Given the description of an element on the screen output the (x, y) to click on. 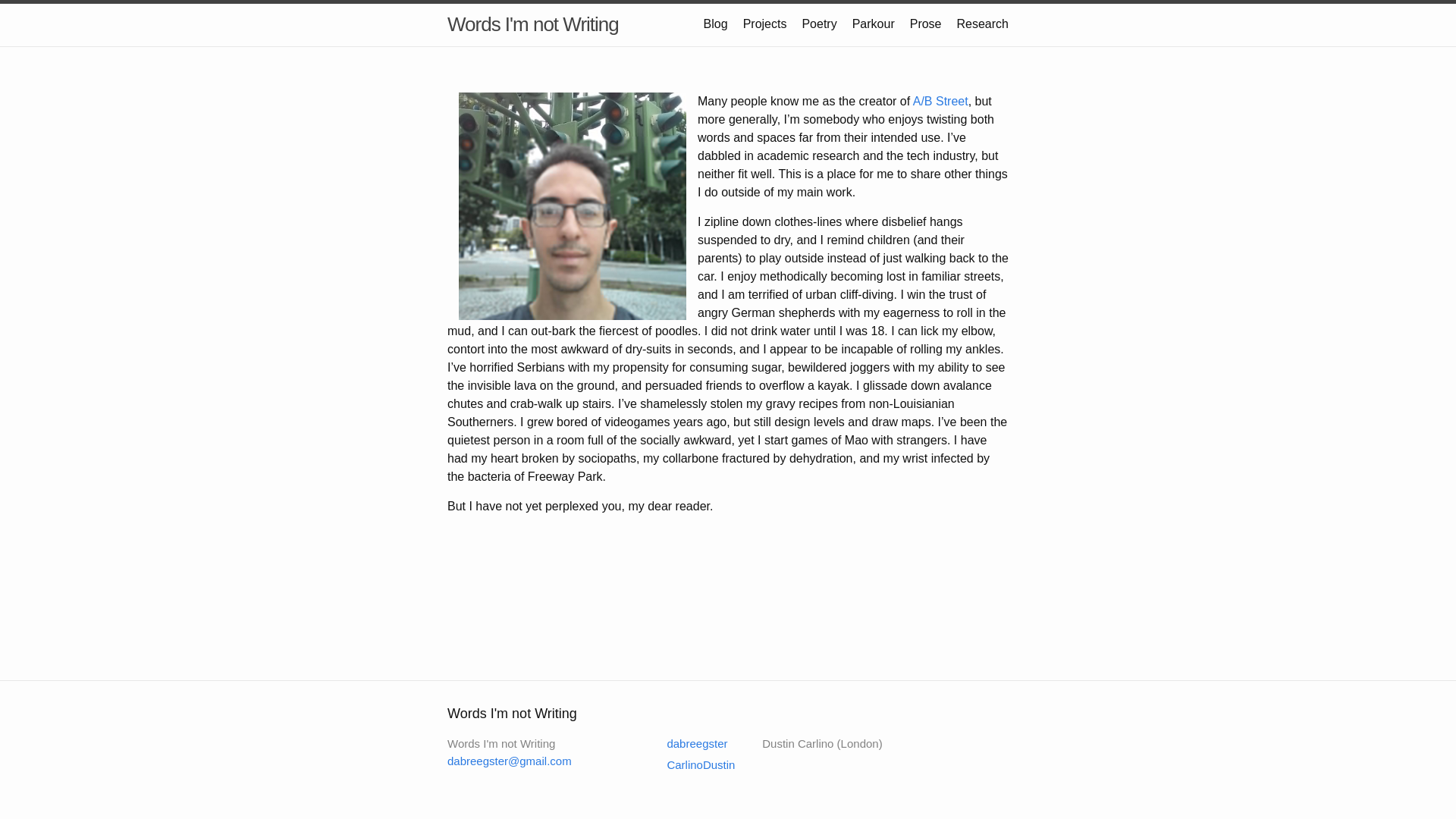
Prose (926, 23)
Words I'm not Writing (532, 24)
CarlinoDustin (691, 764)
Projects (764, 23)
Research (982, 23)
dabreegster (686, 743)
Blog (715, 23)
Poetry (818, 23)
Parkour (873, 23)
